Given the description of an element on the screen output the (x, y) to click on. 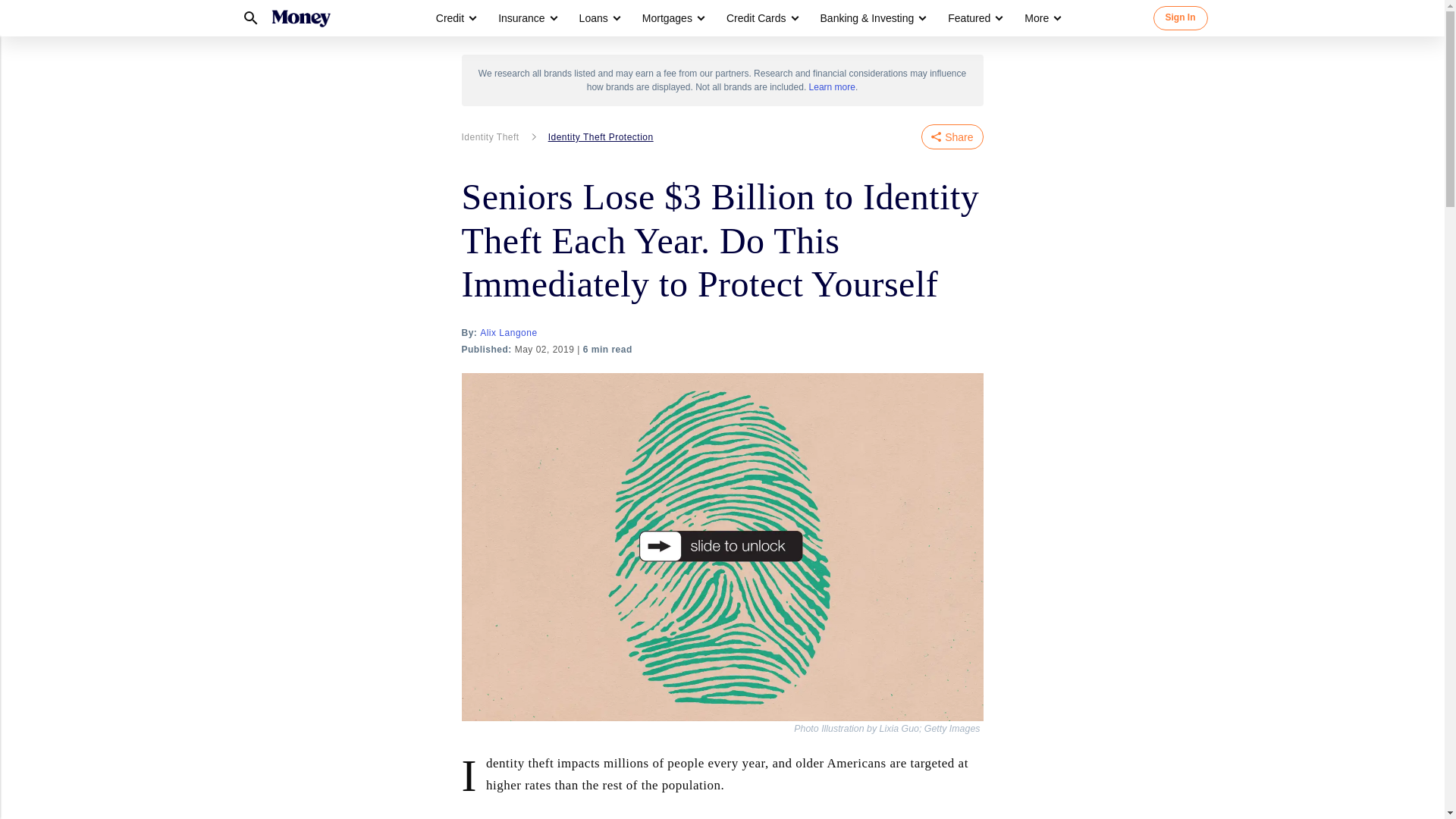
Mortgages (667, 18)
Loans (593, 18)
Credit Cards (756, 18)
Insurance (526, 18)
Insurance (520, 18)
Credit Cards (761, 18)
Mortgages (672, 18)
Credit (455, 18)
Credit (449, 18)
Loans (598, 18)
